Given the description of an element on the screen output the (x, y) to click on. 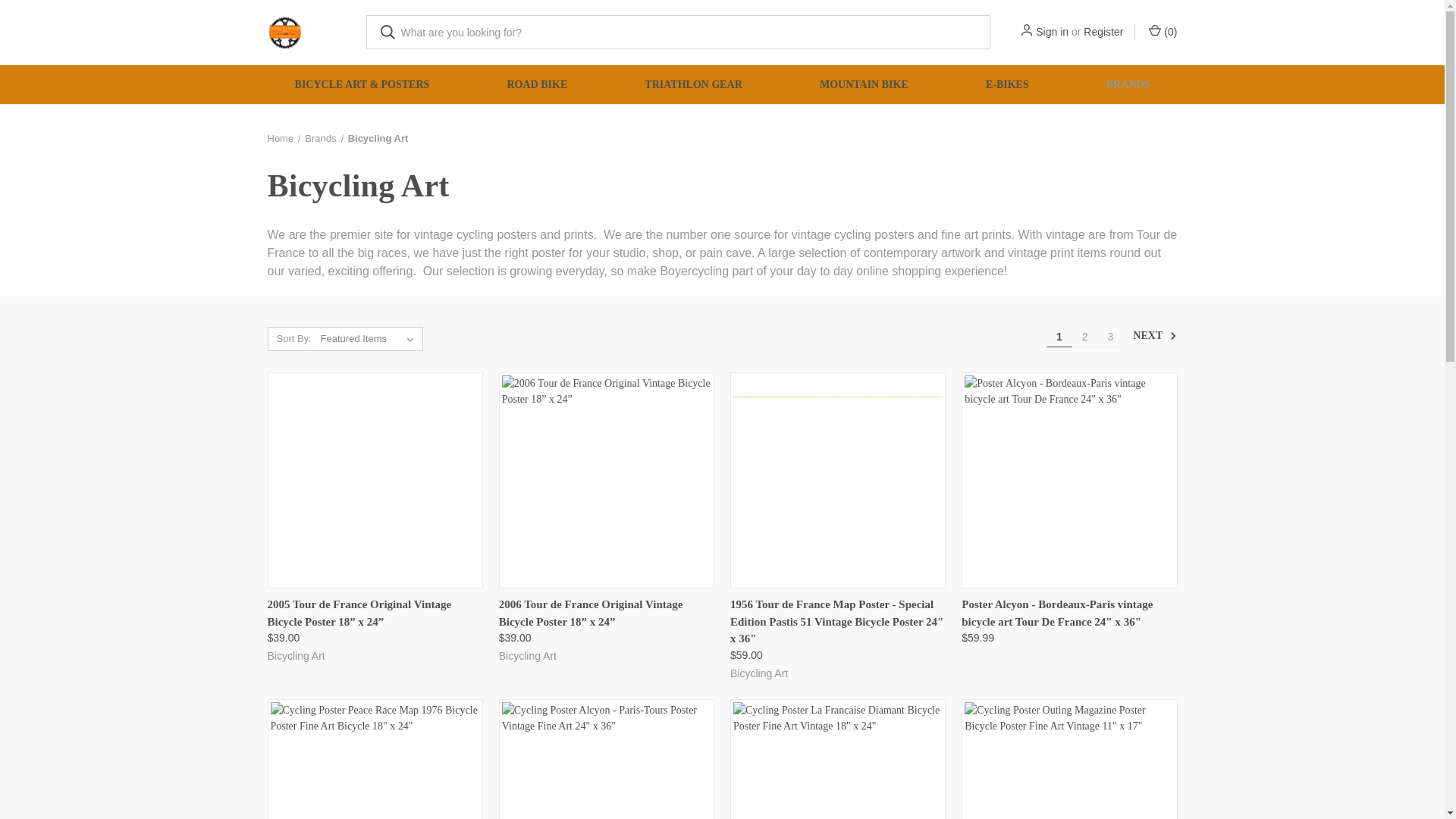
Sign in (1051, 32)
MOUNTAIN BIKE (863, 84)
TRIATHLON GEAR (692, 84)
BoyerCycling (283, 32)
ROAD BIKE (536, 84)
